Given the description of an element on the screen output the (x, y) to click on. 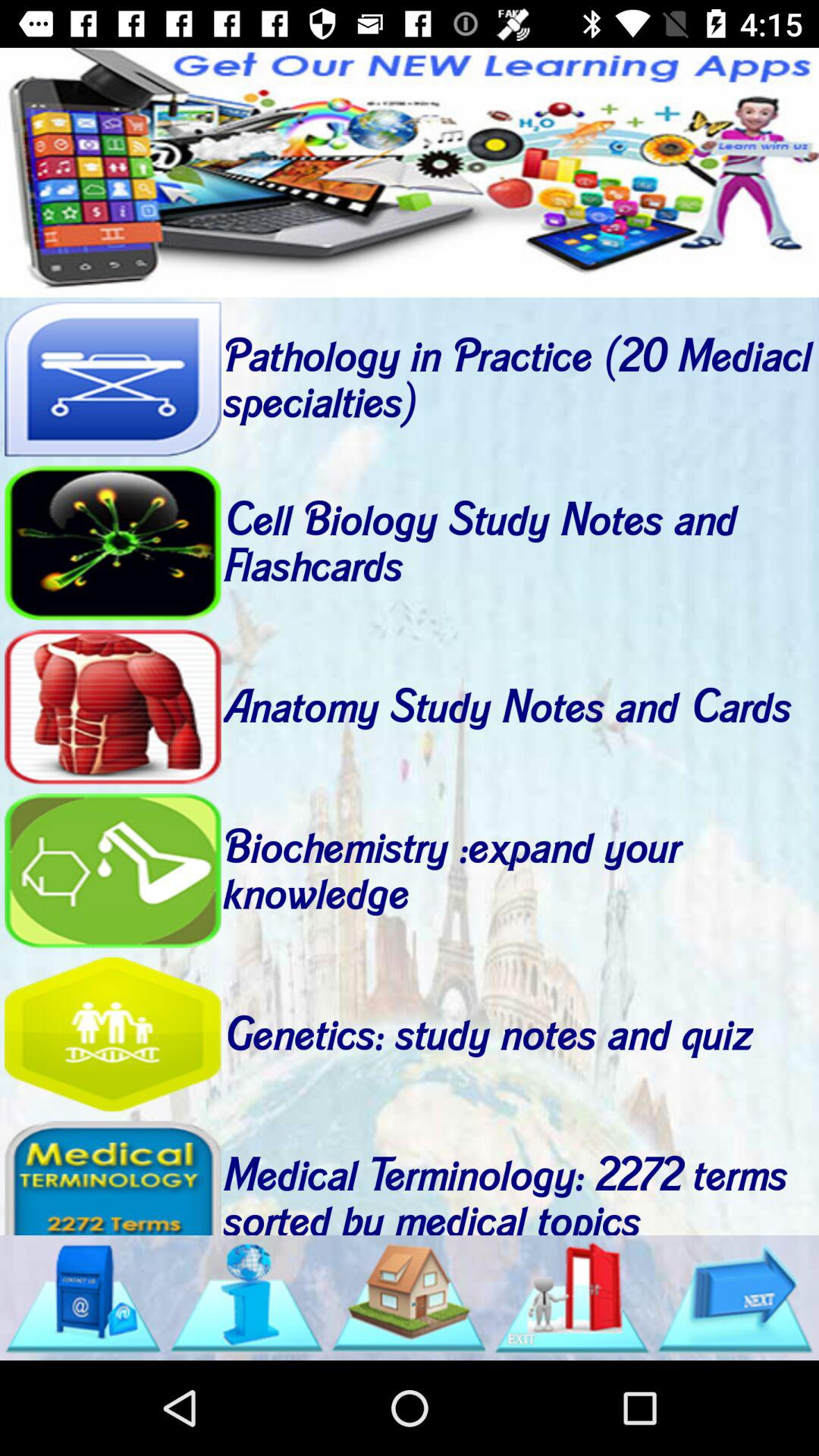
internet search (245, 1297)
